Given the description of an element on the screen output the (x, y) to click on. 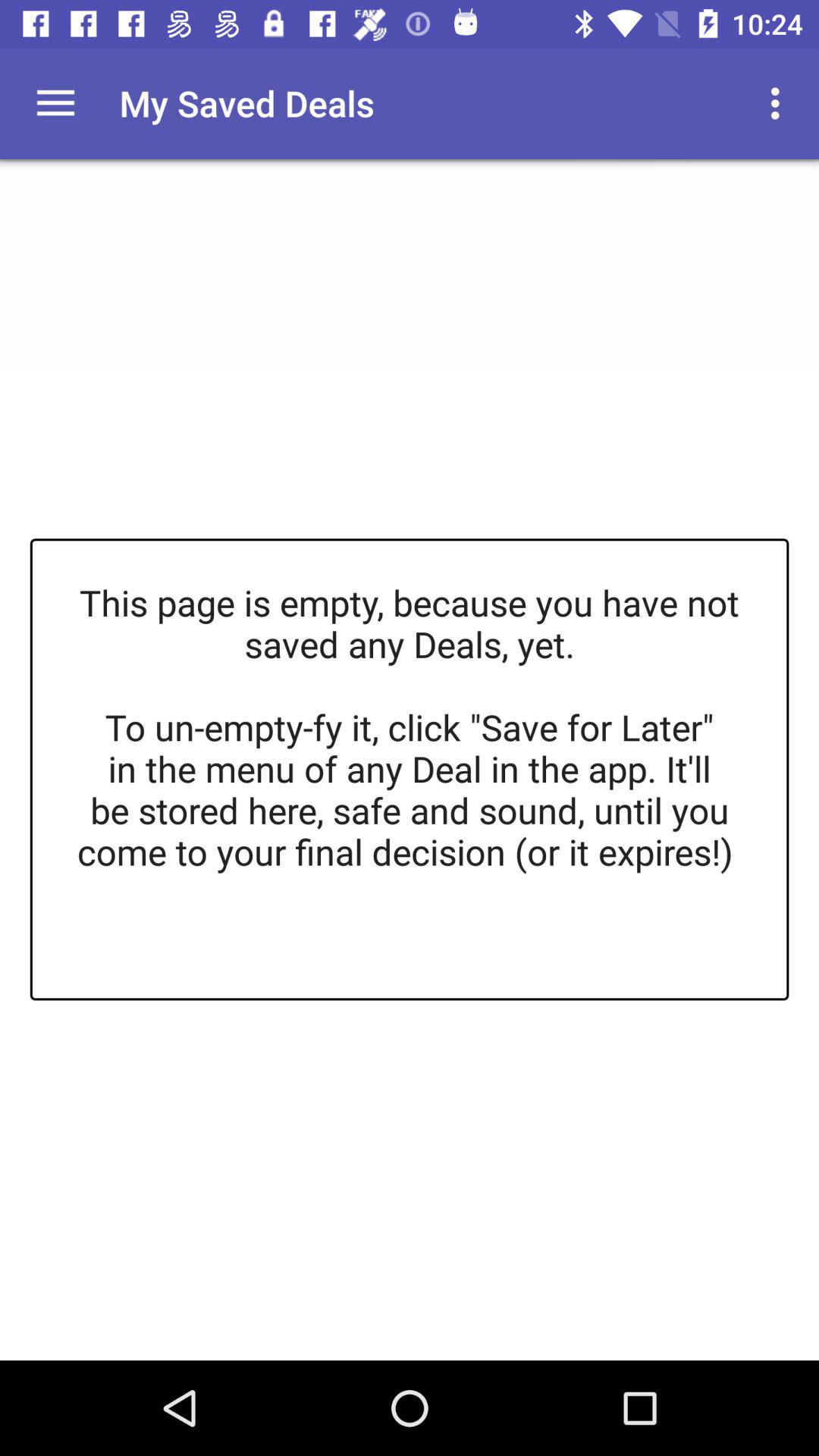
go to more options list (55, 103)
